Given the description of an element on the screen output the (x, y) to click on. 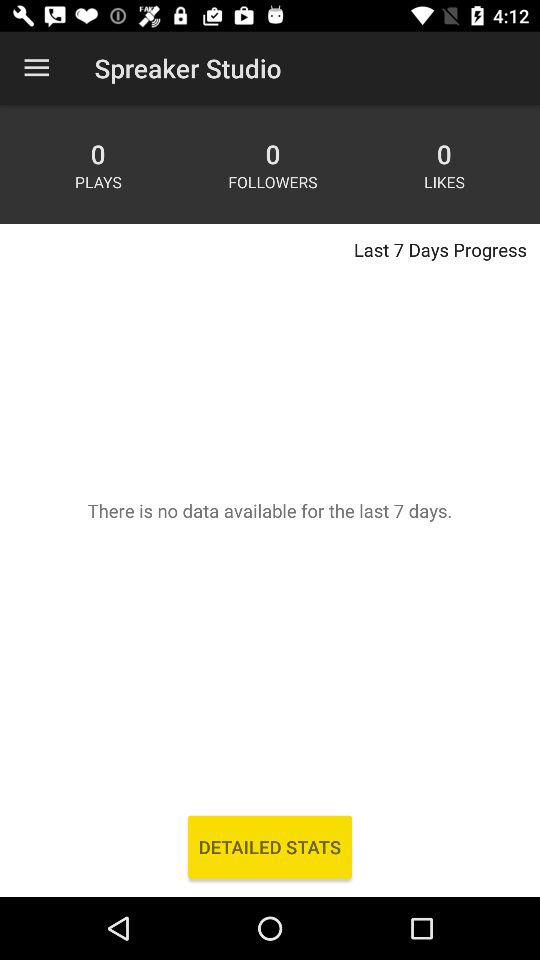
choose detailed stats item (269, 846)
